Given the description of an element on the screen output the (x, y) to click on. 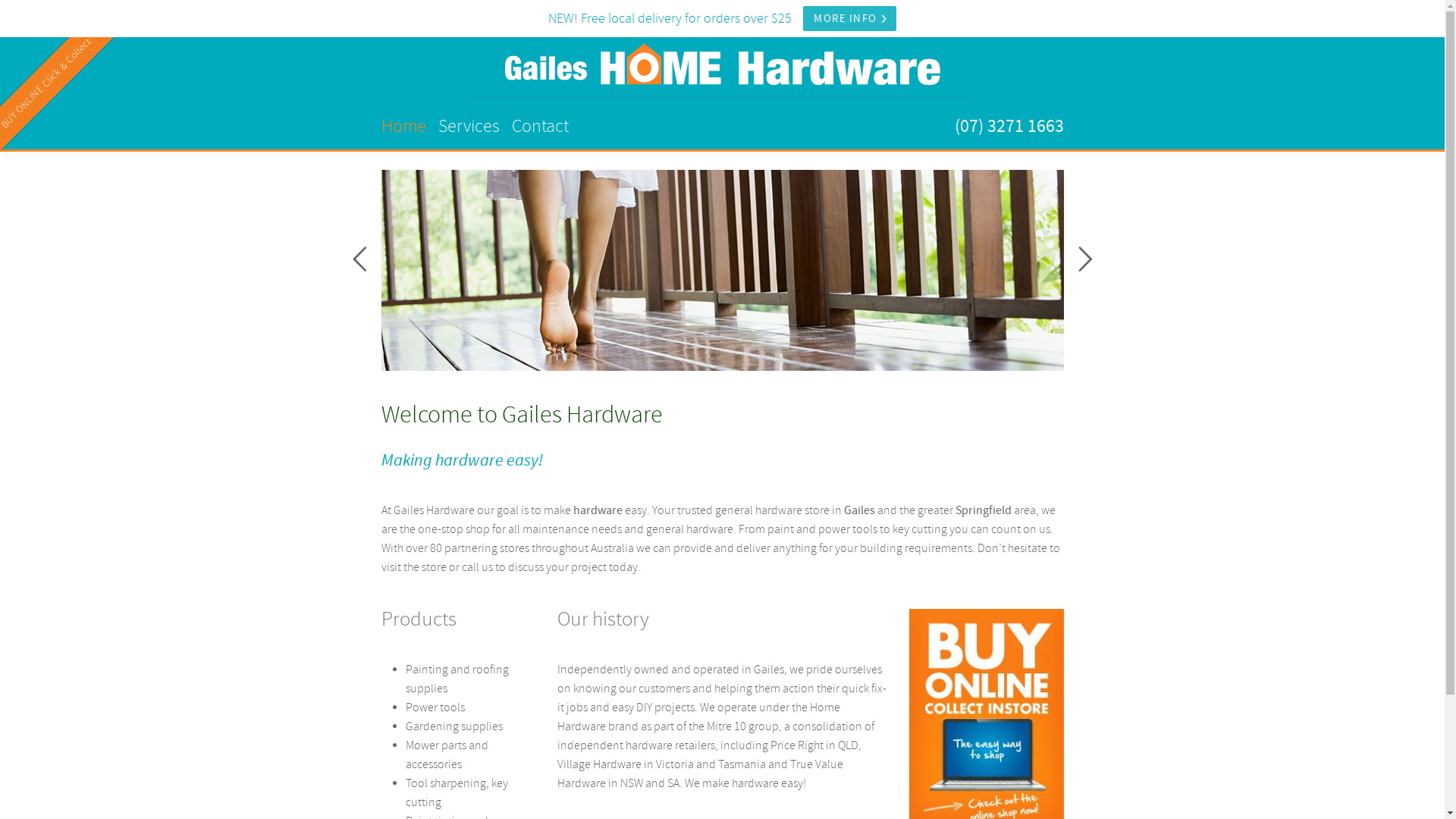
Contact Element type: text (539, 125)
Services Element type: text (468, 125)
Home Element type: text (402, 125)
MORE INFO Element type: text (850, 18)
(07) 3271 1663 Element type: text (1008, 126)
